Given the description of an element on the screen output the (x, y) to click on. 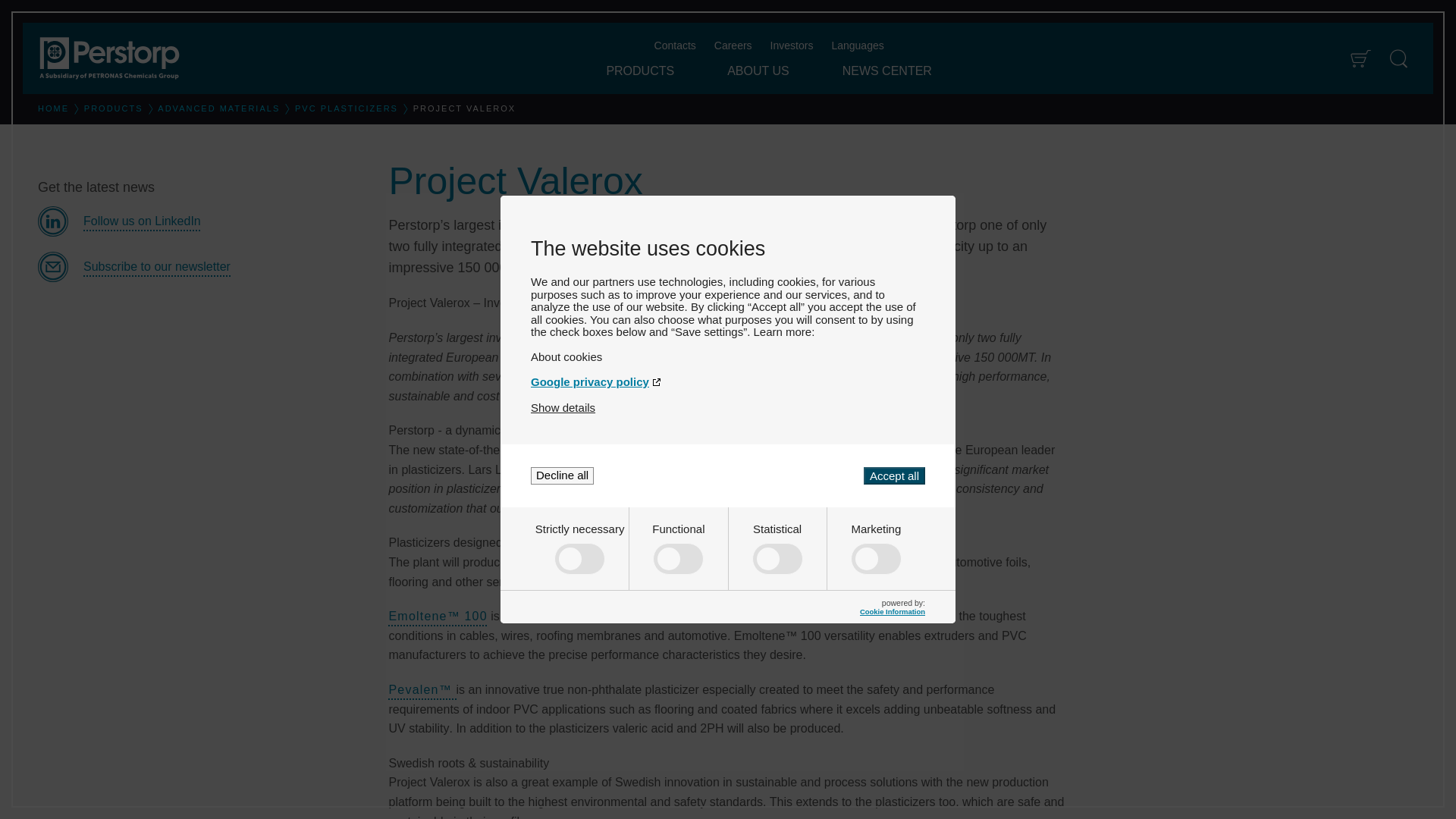
Show details (563, 407)
Decline all (562, 475)
About cookies (727, 356)
Google privacy policy (727, 381)
LinkedIn (201, 221)
Accept all (893, 475)
Cookie Information (892, 611)
